Given the description of an element on the screen output the (x, y) to click on. 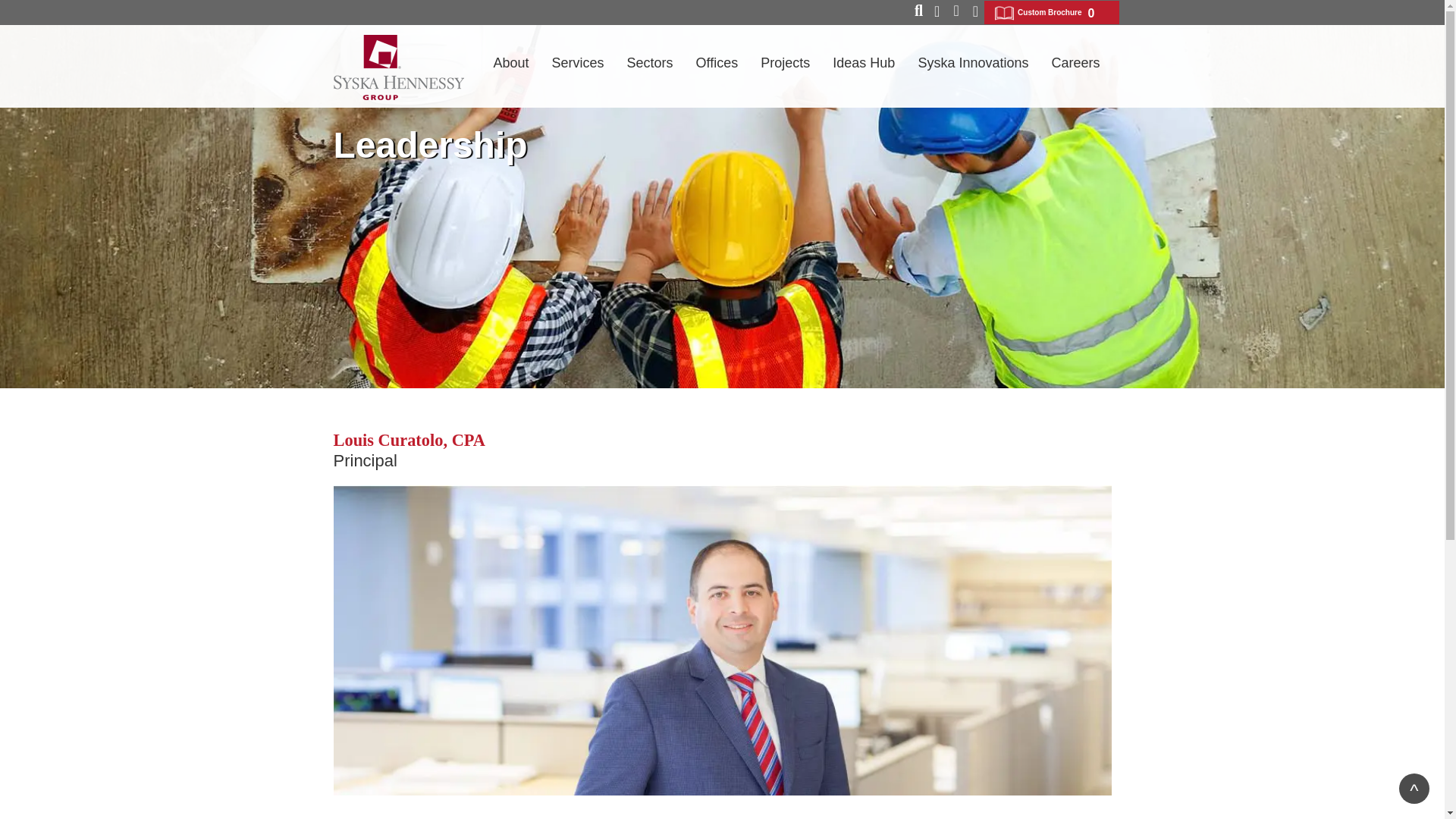
Services (577, 68)
Custom Brochure0 (1051, 12)
Offices (716, 68)
About (510, 68)
Sectors (649, 68)
